Given the description of an element on the screen output the (x, y) to click on. 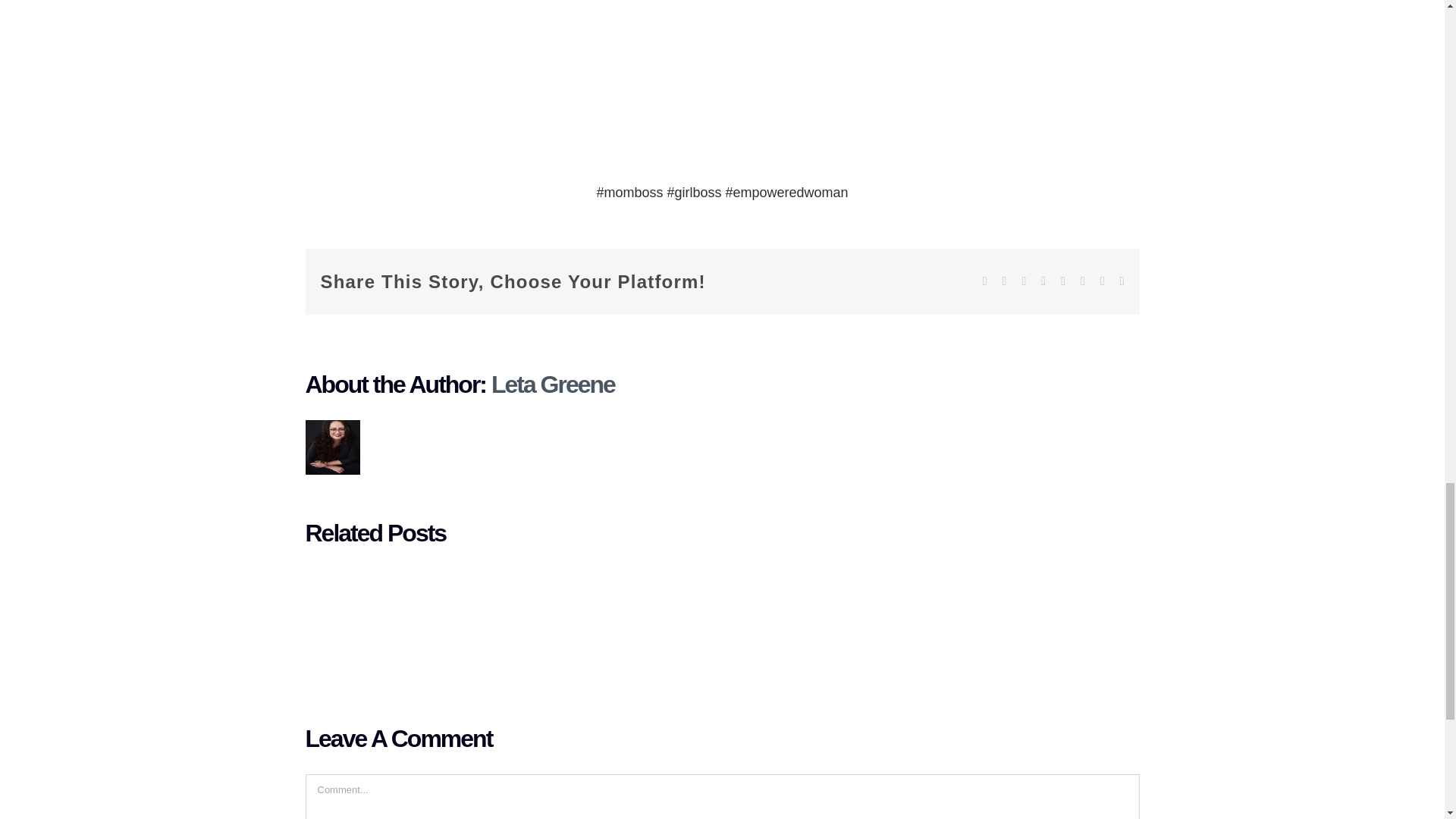
Posts by Leta Greene (553, 384)
